Given the description of an element on the screen output the (x, y) to click on. 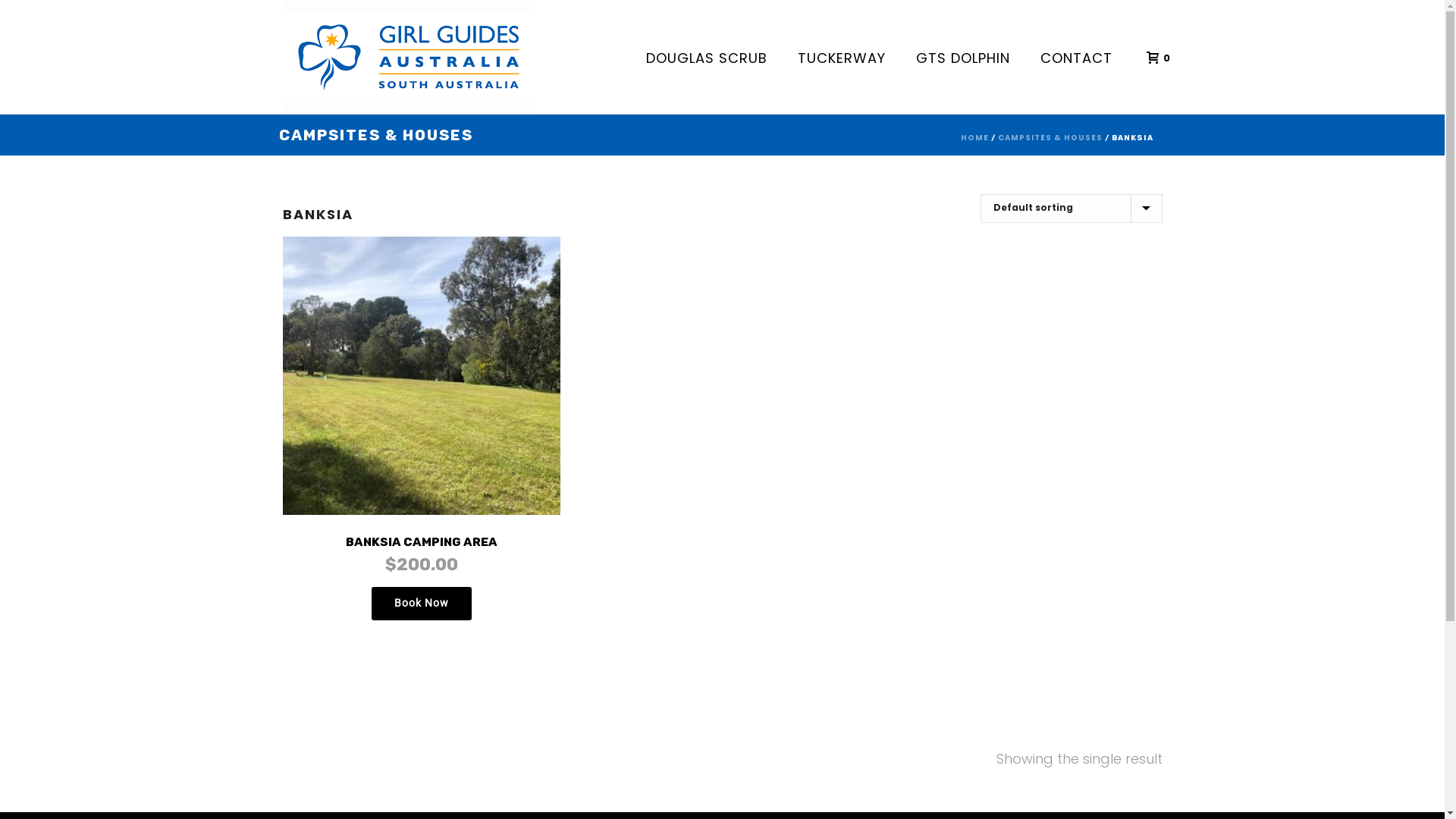
CONTACT Element type: text (1076, 56)
Girl Guides South Australia Element type: hover (407, 56)
Banksia Camping Area
$200.00 Element type: text (421, 417)
DOUGLAS SCRUB Element type: text (706, 56)
TUCKERWAY Element type: text (841, 56)
HOME Element type: text (974, 137)
Book Now Element type: text (421, 603)
0 Element type: text (1154, 56)
GTS DOLPHIN Element type: text (962, 56)
CAMPSITES & HOUSES Element type: text (1049, 137)
